Given the description of an element on the screen output the (x, y) to click on. 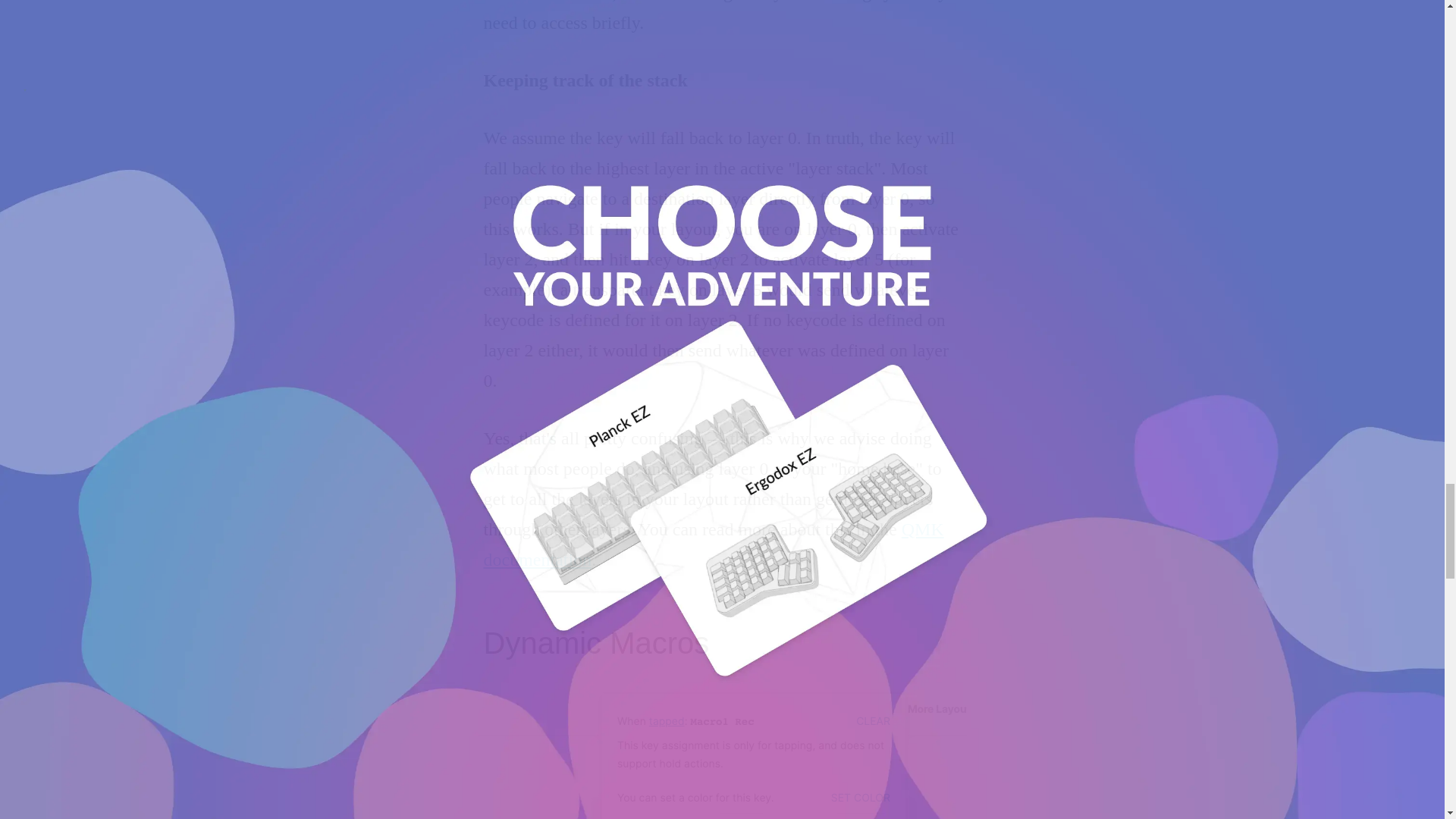
QMK documentation (713, 544)
